Given the description of an element on the screen output the (x, y) to click on. 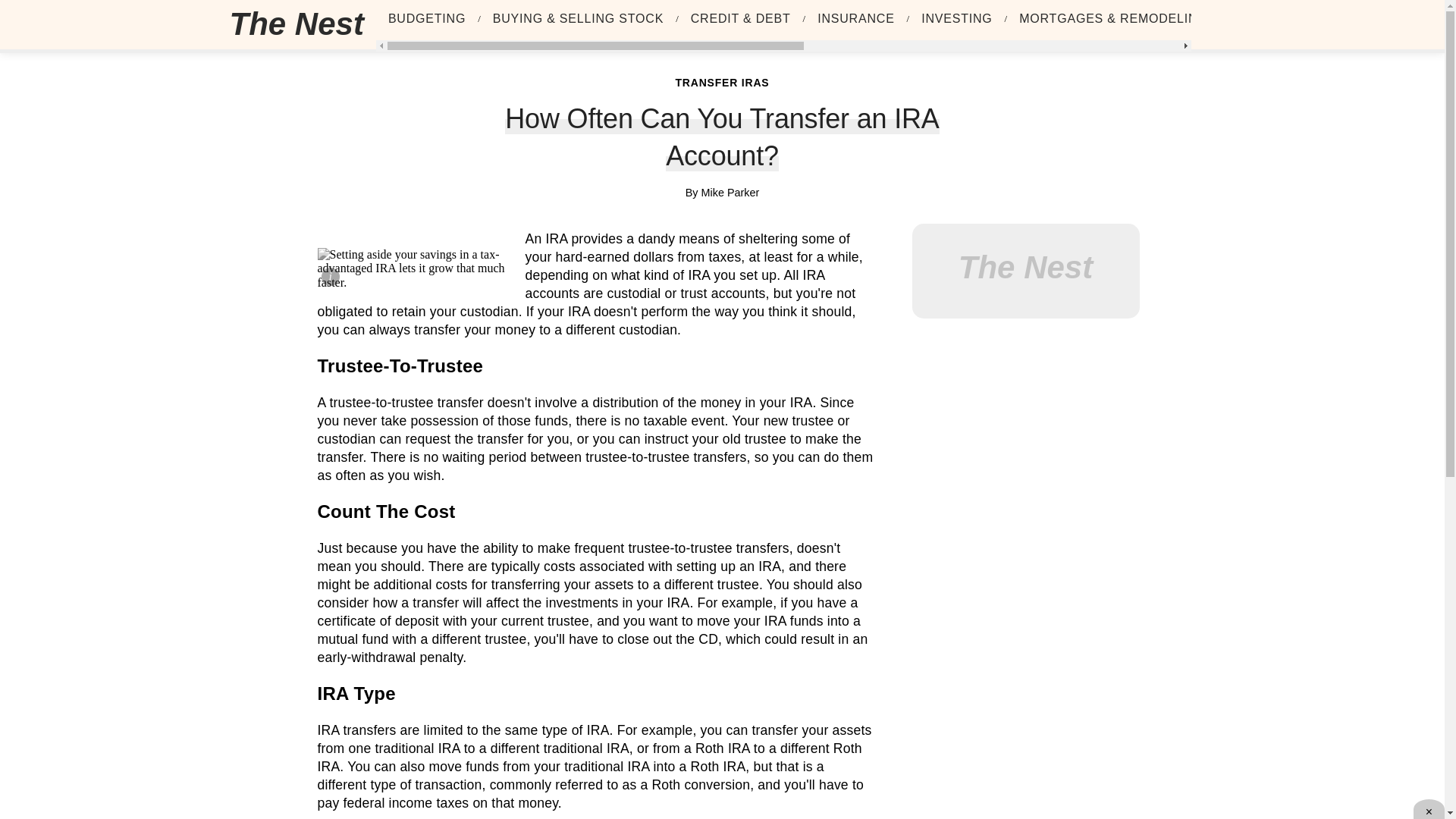
INVESTING (956, 19)
BUDGETING (426, 19)
The Nest (301, 23)
PURCHASING A CAR (1299, 19)
TRANSFER IRAS (722, 82)
The Nest (295, 23)
INSURANCE (854, 19)
